Given the description of an element on the screen output the (x, y) to click on. 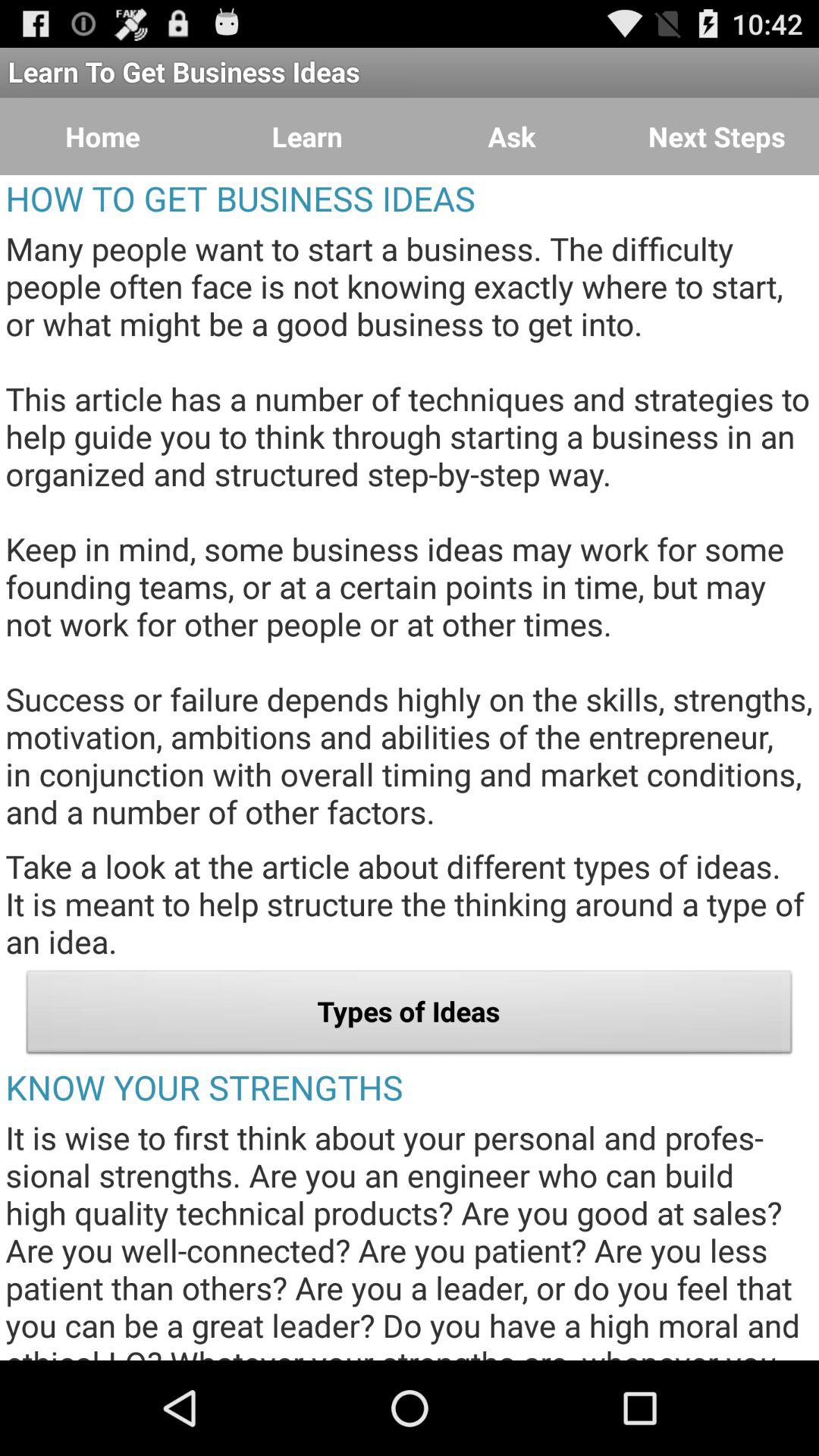
click icon next to learn item (511, 136)
